Given the description of an element on the screen output the (x, y) to click on. 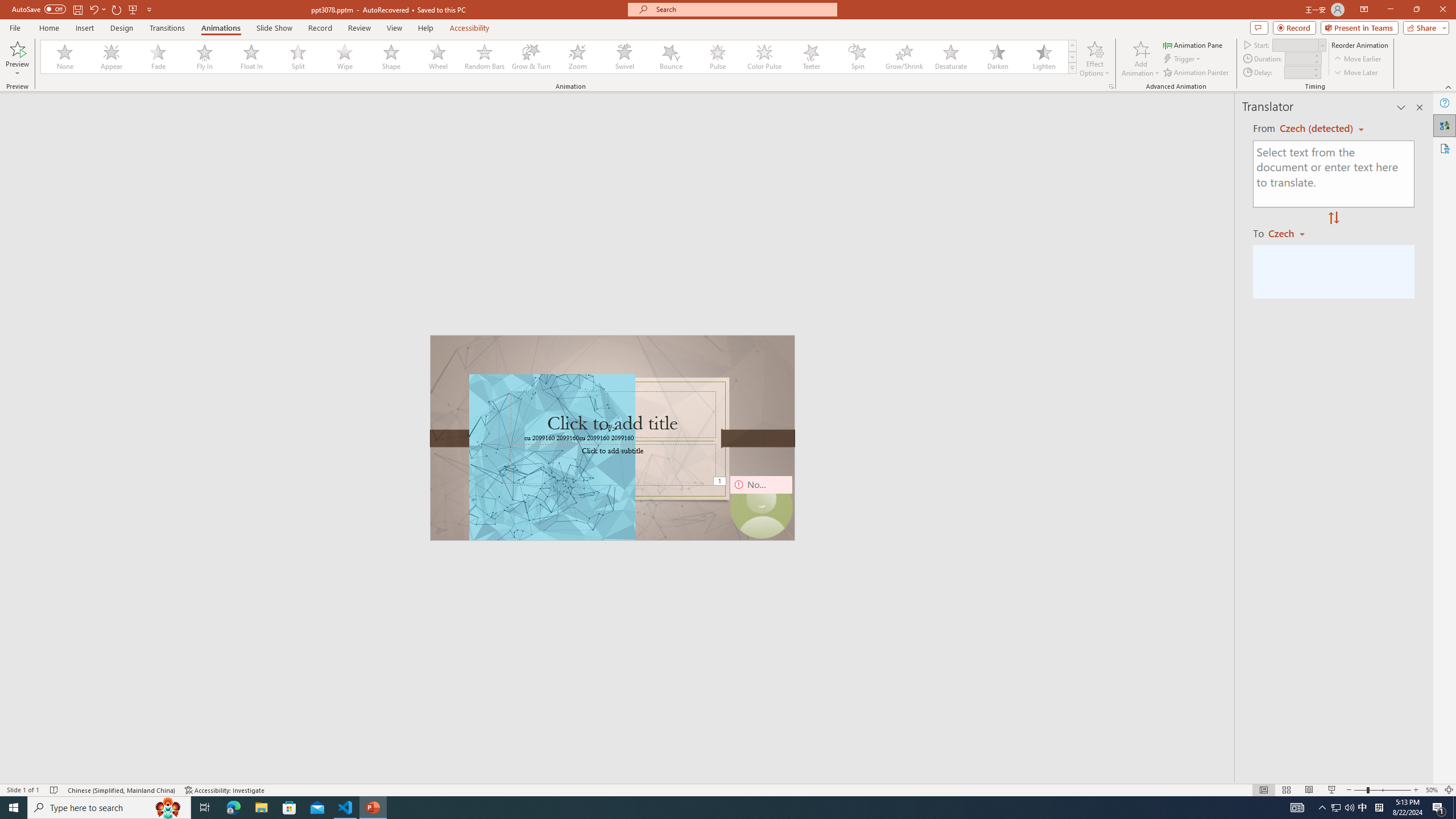
Class: NetUIImage (1072, 68)
Pulse (717, 56)
